Given the description of an element on the screen output the (x, y) to click on. 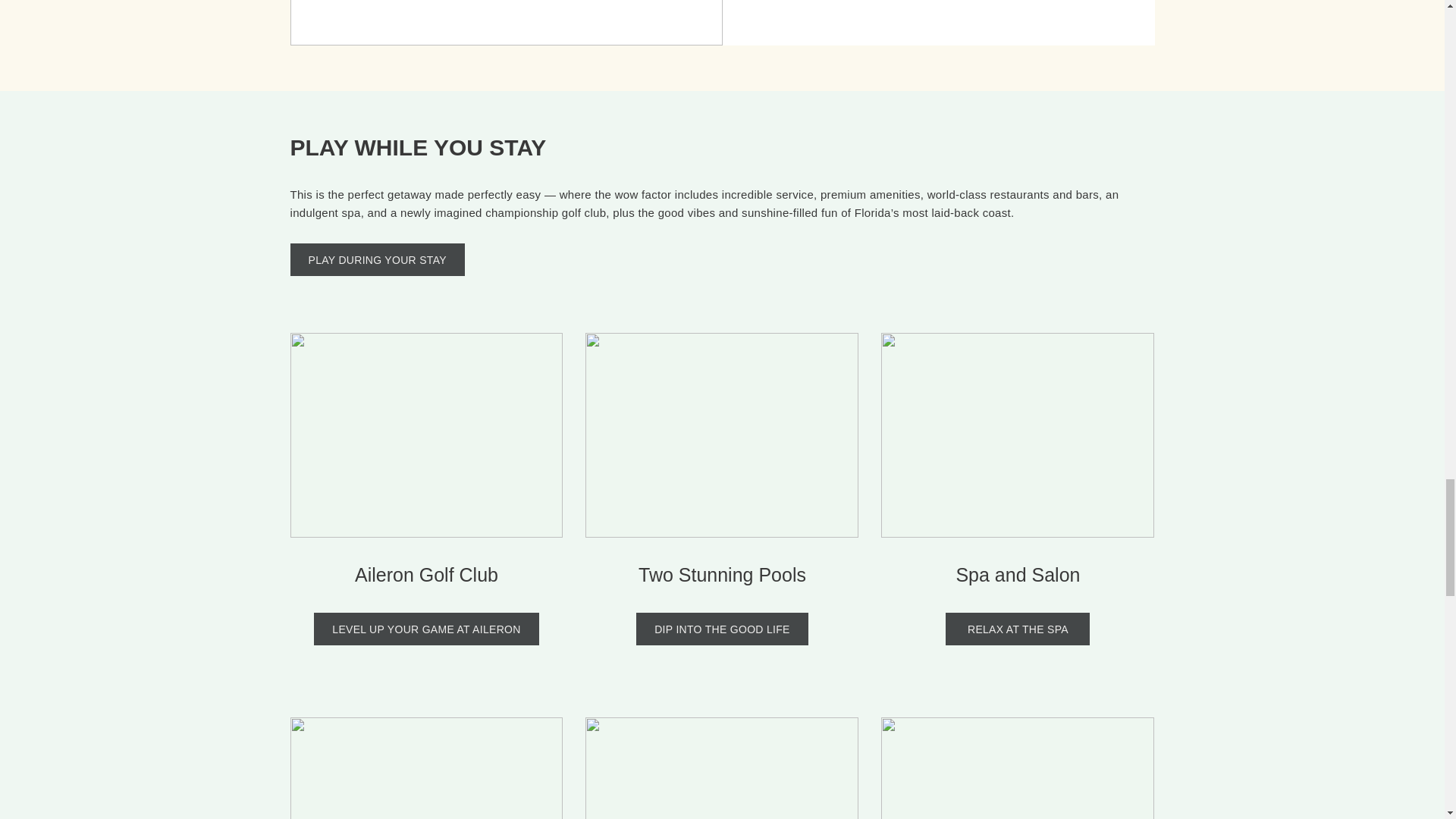
Two Stunning Pools (722, 574)
PLAY DURING YOUR STAY (376, 259)
Spa and Salon (1017, 574)
Aileron Golf Club (426, 574)
DIP INTO THE GOOD LIFE (722, 628)
LEVEL UP YOUR GAME AT AILERON (426, 628)
RELAX AT THE SPA (1016, 628)
